Given the description of an element on the screen output the (x, y) to click on. 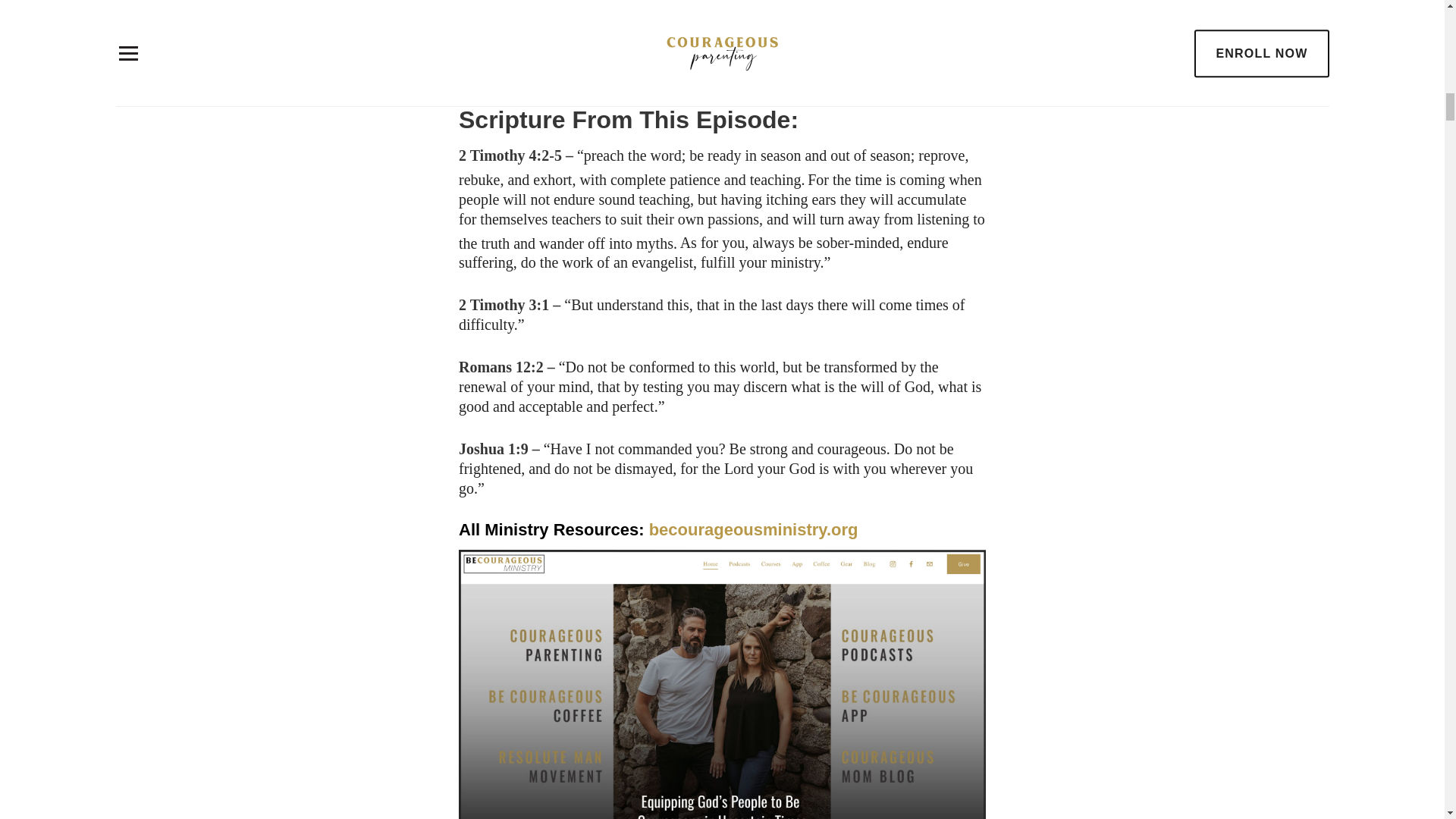
becourageousministry.org (754, 529)
